Given the description of an element on the screen output the (x, y) to click on. 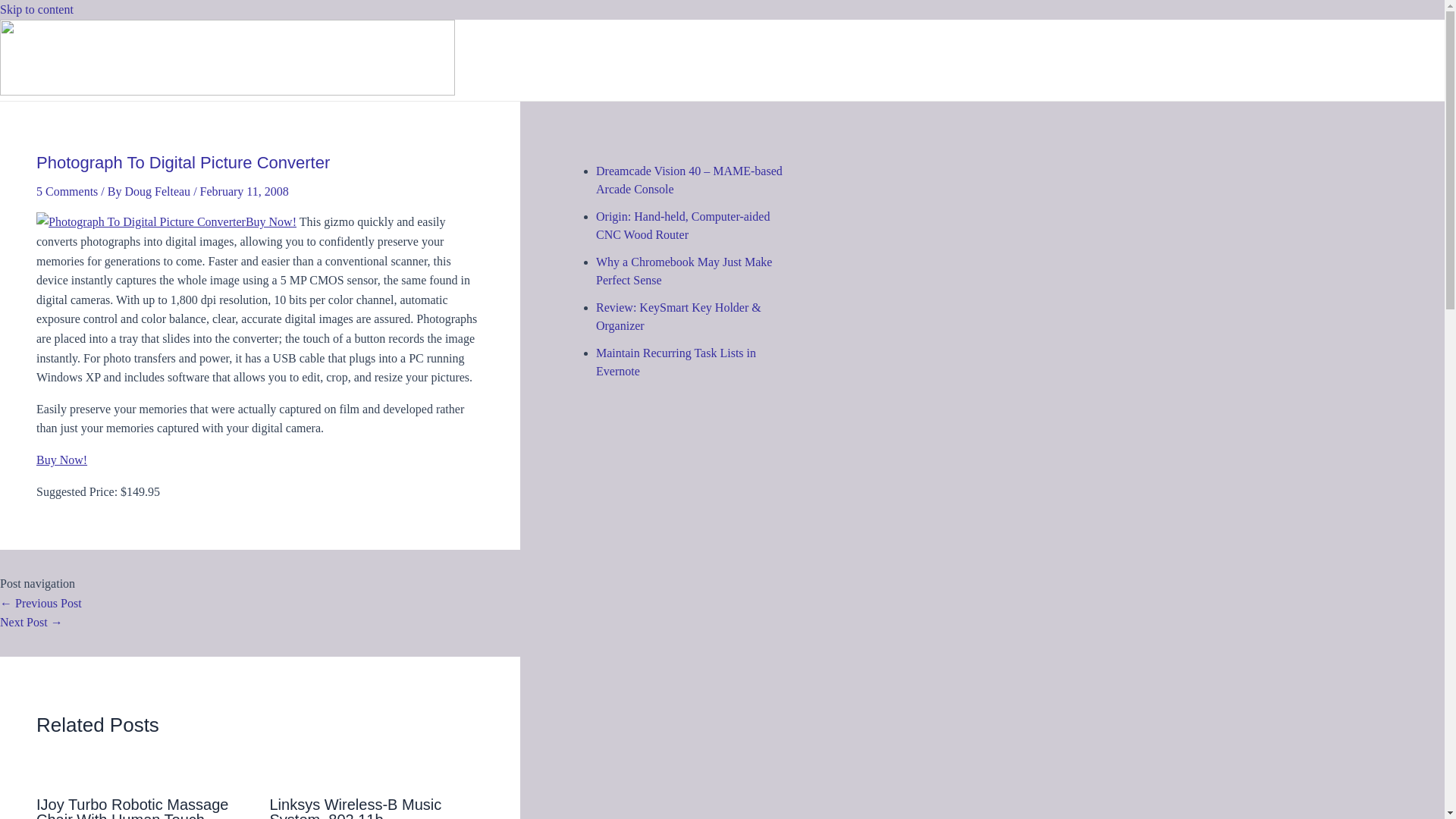
Skip to content (37, 9)
View all posts by Doug Felteau (158, 191)
5 Comments (66, 191)
Doug Felteau (158, 191)
Linksys Wireless-B Music System, 802.11b (355, 807)
Buy Now! (61, 459)
IJoy Turbo Robotic Massage Chair With Human Touch (132, 807)
Skip to content (37, 9)
Buy Now! (166, 221)
